Given the description of an element on the screen output the (x, y) to click on. 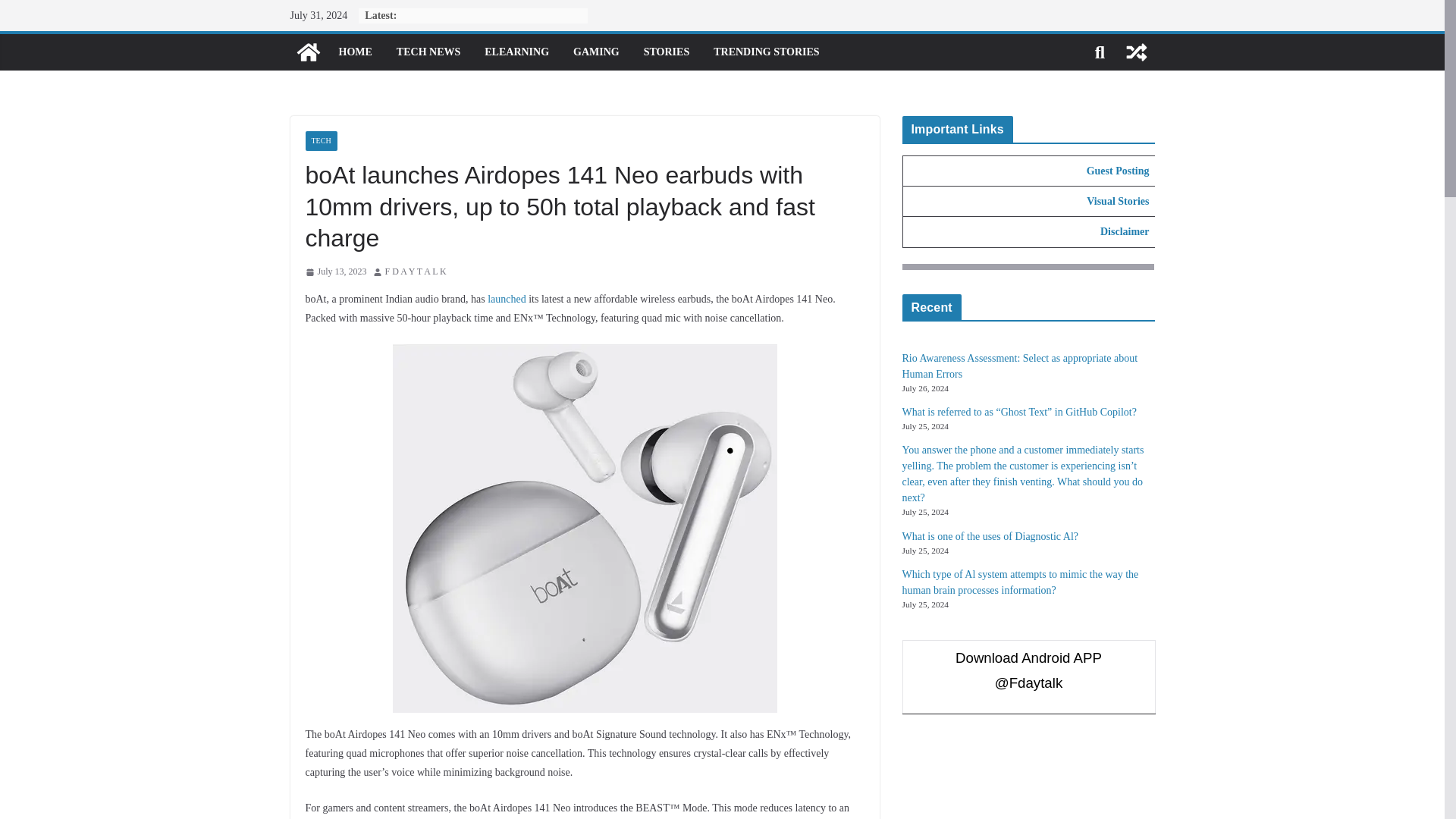
Disclaimer (1125, 231)
GAMING (596, 52)
1:01 pm (335, 271)
launched (506, 298)
TECH (320, 140)
TRENDING STORIES (765, 52)
ELEARNING (516, 52)
fdaytalk.com (307, 52)
What is one of the uses of Diagnostic Al? (990, 536)
View a random post (1136, 52)
Guest Posting (1118, 170)
July 13, 2023 (335, 271)
STORIES (665, 52)
